Given the description of an element on the screen output the (x, y) to click on. 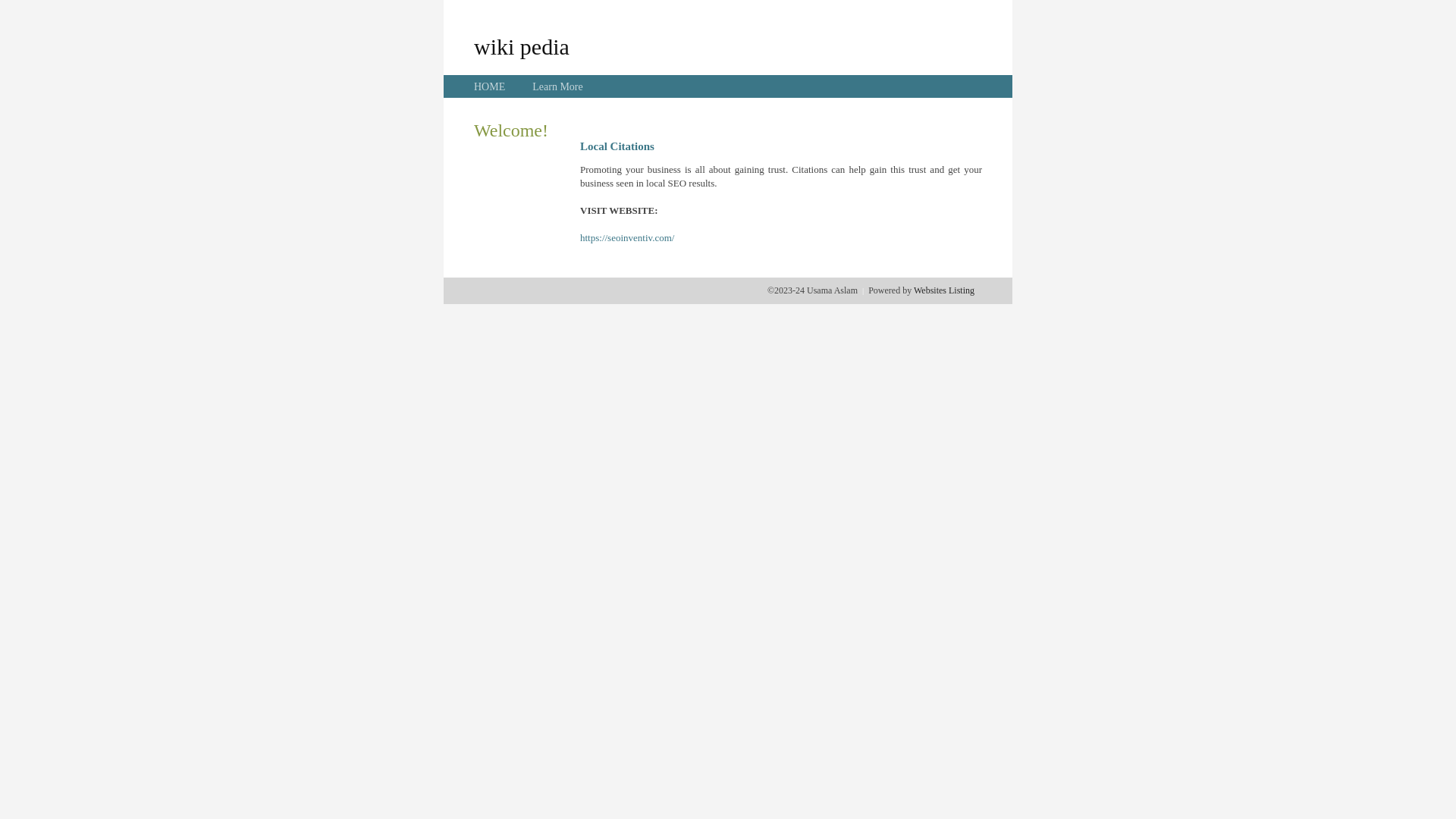
Learn More Element type: text (557, 86)
https://seoinventiv.com/ Element type: text (627, 237)
wiki pedia Element type: text (521, 46)
Websites Listing Element type: text (943, 290)
HOME Element type: text (489, 86)
